Given the description of an element on the screen output the (x, y) to click on. 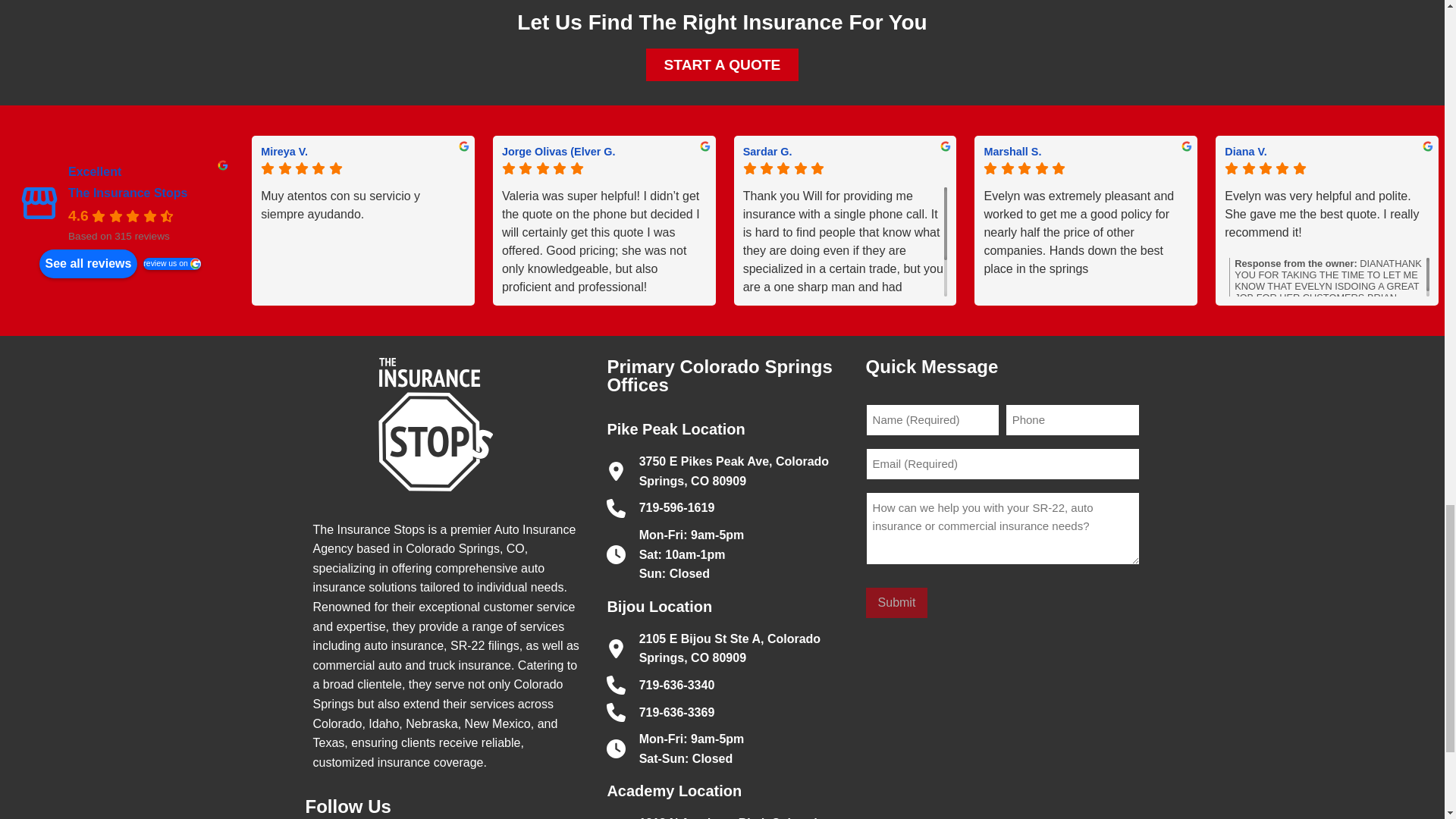
Muy atentos con su servicio y siempre ayudando. (362, 241)
Sardar G. (844, 151)
Mireya V. (362, 151)
The Insurance Stops (39, 202)
Diana V. (1326, 151)
Marshall S. (1086, 151)
